Given the description of an element on the screen output the (x, y) to click on. 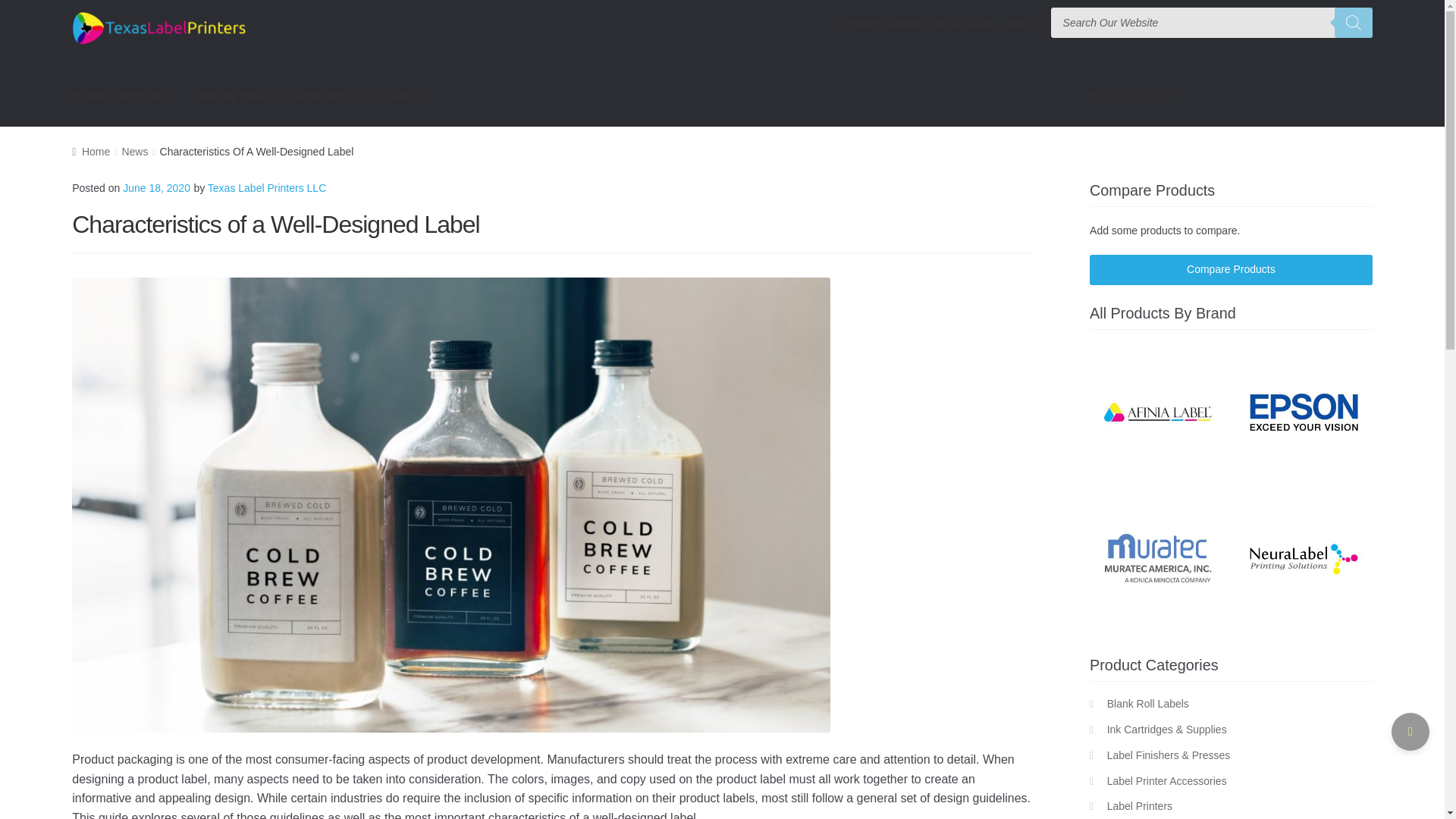
View your shopping cart (1231, 96)
Login (1013, 23)
My Account (963, 23)
Afinia Label (1157, 411)
Request Samples (883, 23)
Product Categories (122, 95)
Muratec (1157, 558)
Epson ColorWorks (1303, 411)
Compare Products (1231, 269)
NeuraLabel (1303, 558)
